Given the description of an element on the screen output the (x, y) to click on. 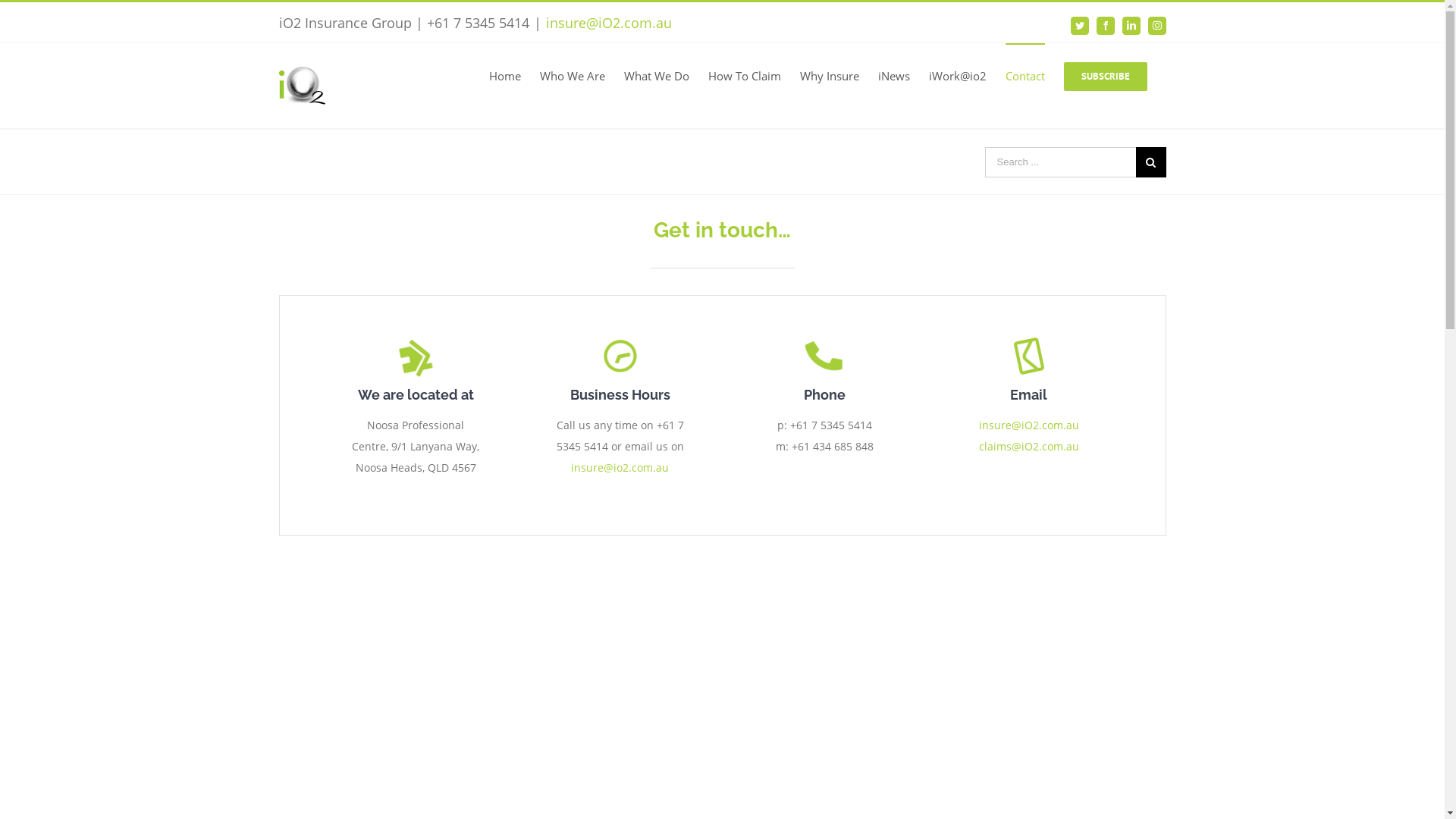
What We Do Element type: text (655, 75)
iNews Element type: text (894, 75)
SUBSCRIBE Element type: text (1104, 75)
Twitter Element type: text (1079, 25)
claims@iO2.com.au Element type: text (1029, 446)
Contact Element type: text (1024, 75)
insure@iO2.com.au Element type: text (1029, 424)
LinkedIn Element type: text (1131, 25)
Who We Are Element type: text (572, 75)
How To Claim Element type: text (744, 75)
insure@iO2.com.au Element type: text (608, 22)
Facebook Element type: text (1105, 25)
iWork@io2 Element type: text (956, 75)
Home Element type: text (504, 75)
insure@io2.com.au Element type: text (619, 467)
Instagram Element type: text (1157, 25)
Why Insure Element type: text (828, 75)
